Given the description of an element on the screen output the (x, y) to click on. 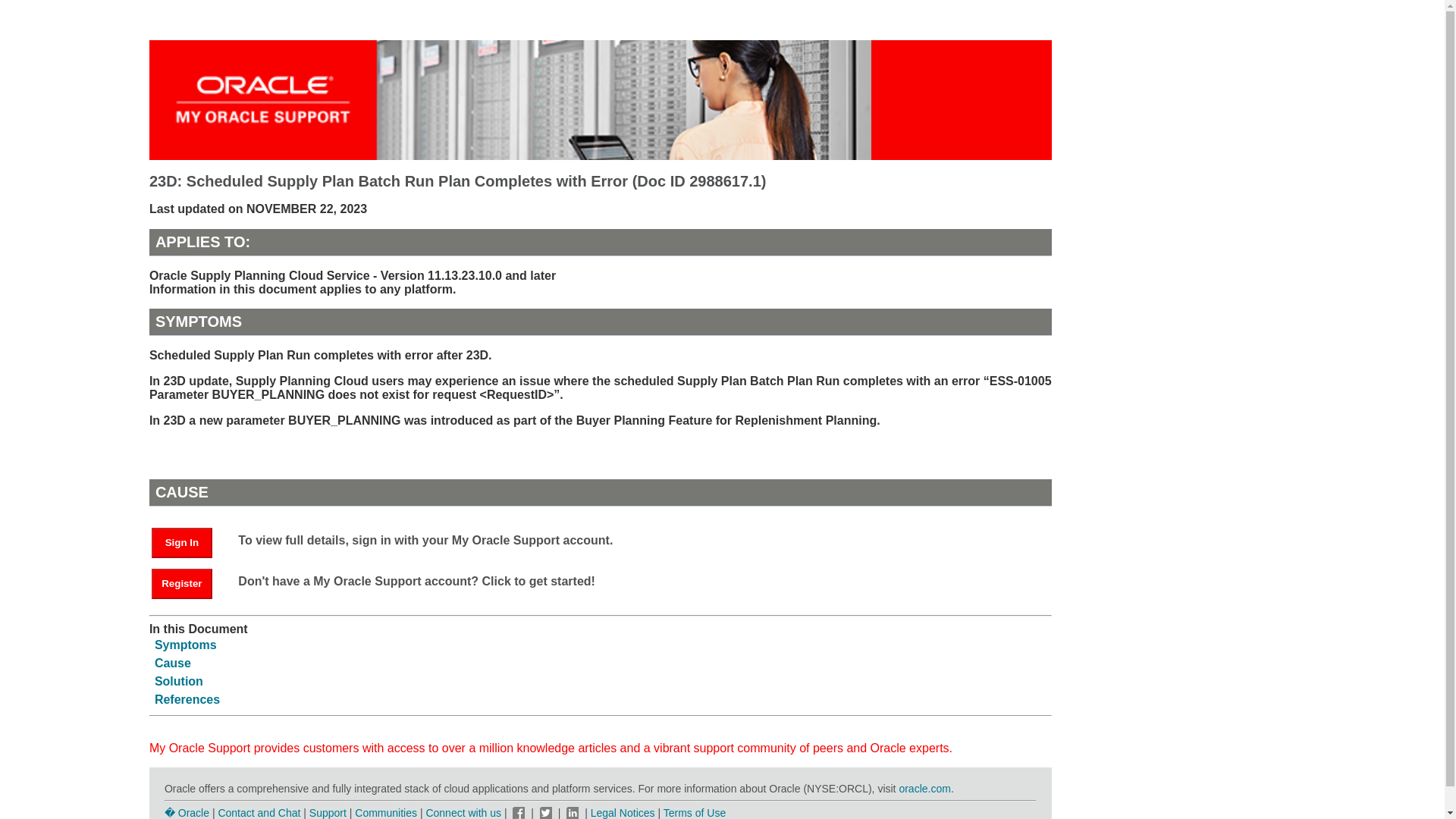
Register (189, 582)
oracle.com (924, 788)
Register (181, 583)
Solution (178, 680)
Connect with us (464, 812)
Support (327, 812)
Sign In (189, 541)
Symptoms (185, 644)
Legal Notices (623, 812)
Contact and Chat (257, 812)
